Given the description of an element on the screen output the (x, y) to click on. 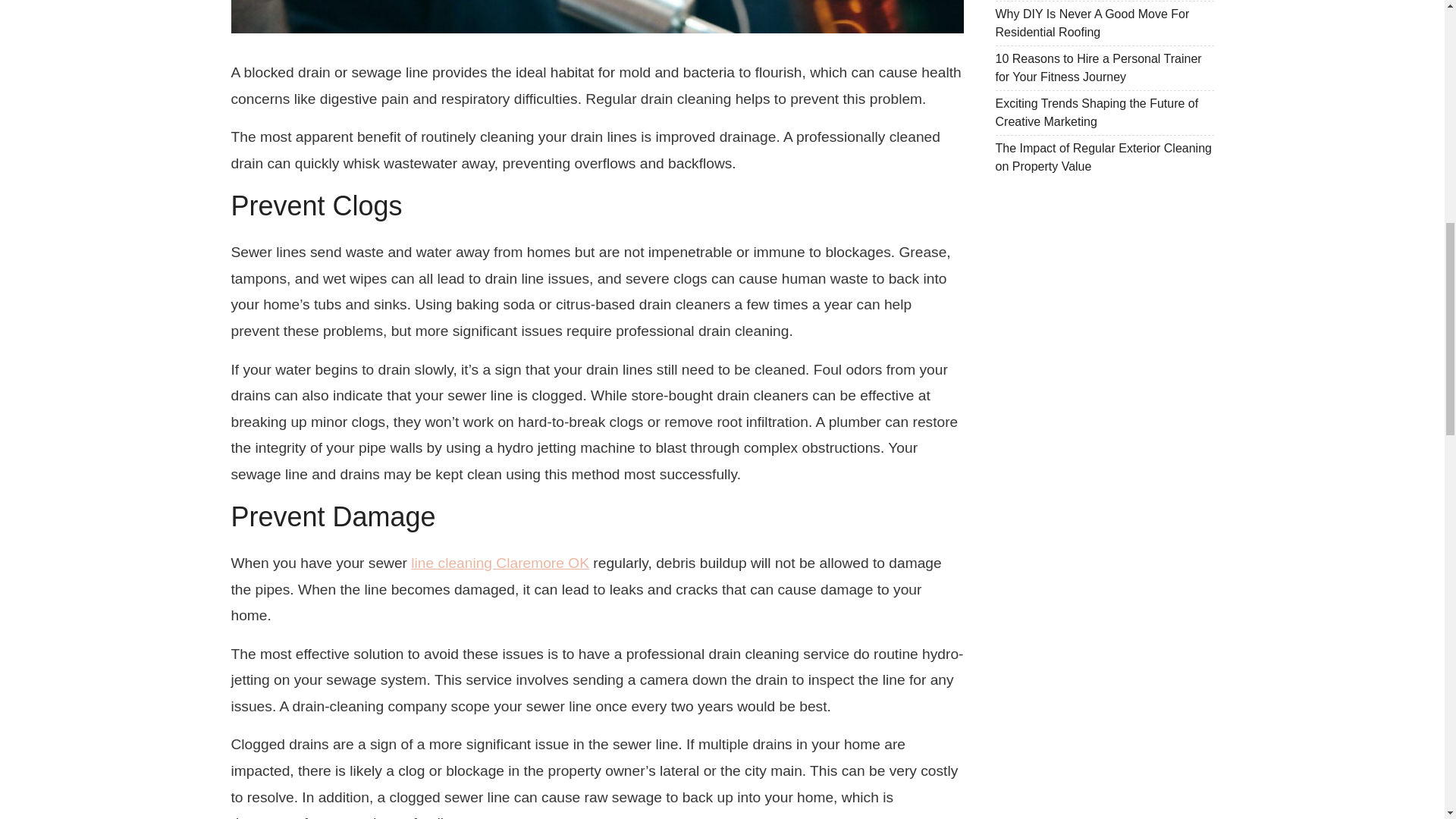
line cleaning Claremore OK (499, 562)
Why DIY Is Never A Good Move For Residential Roofing (1091, 22)
The Impact of Regular Exterior Cleaning on Property Value (1102, 156)
Exciting Trends Shaping the Future of Creative Marketing (1096, 112)
